Given the description of an element on the screen output the (x, y) to click on. 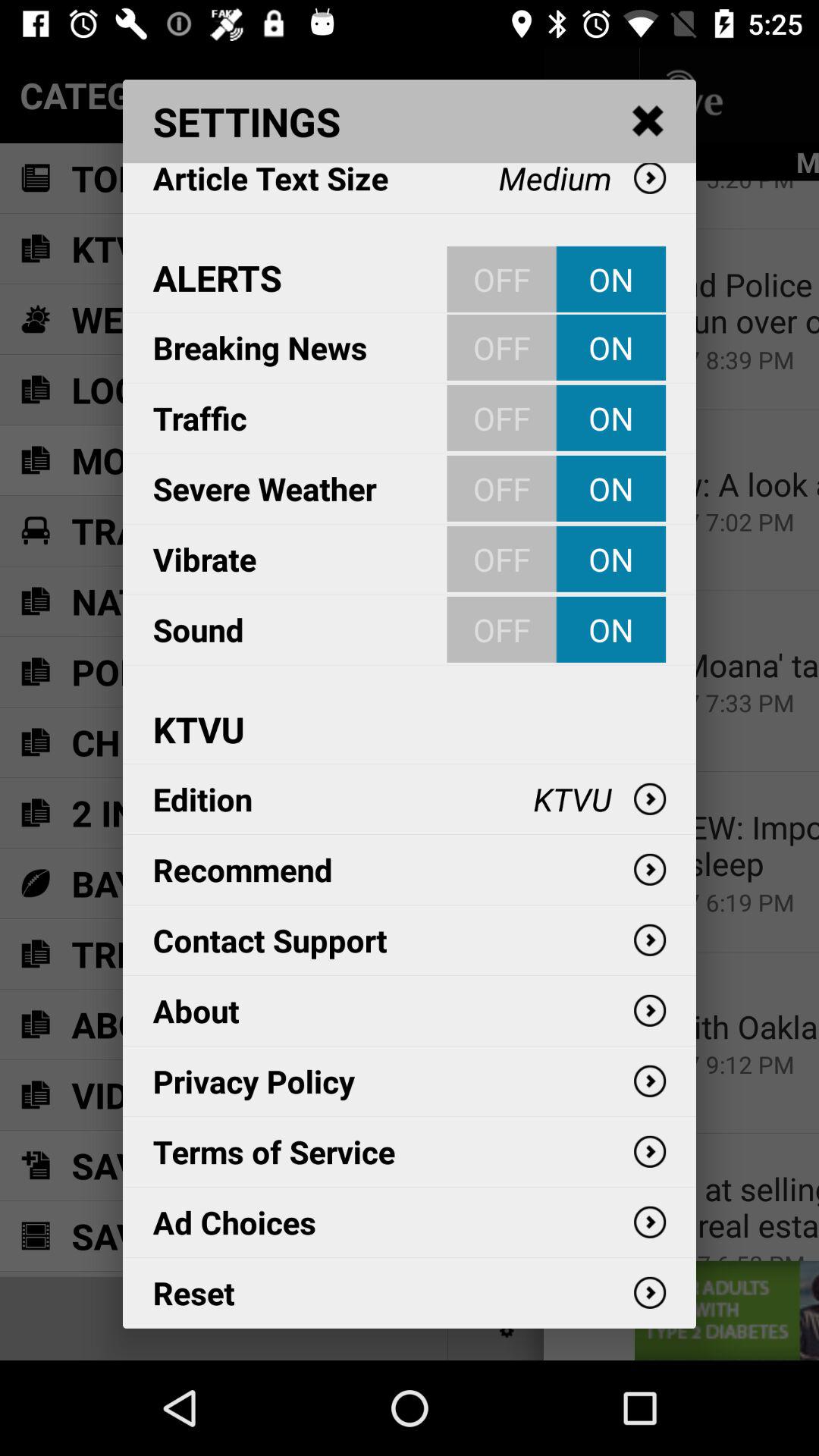
click item to the right of settings item (648, 121)
